Given the description of an element on the screen output the (x, y) to click on. 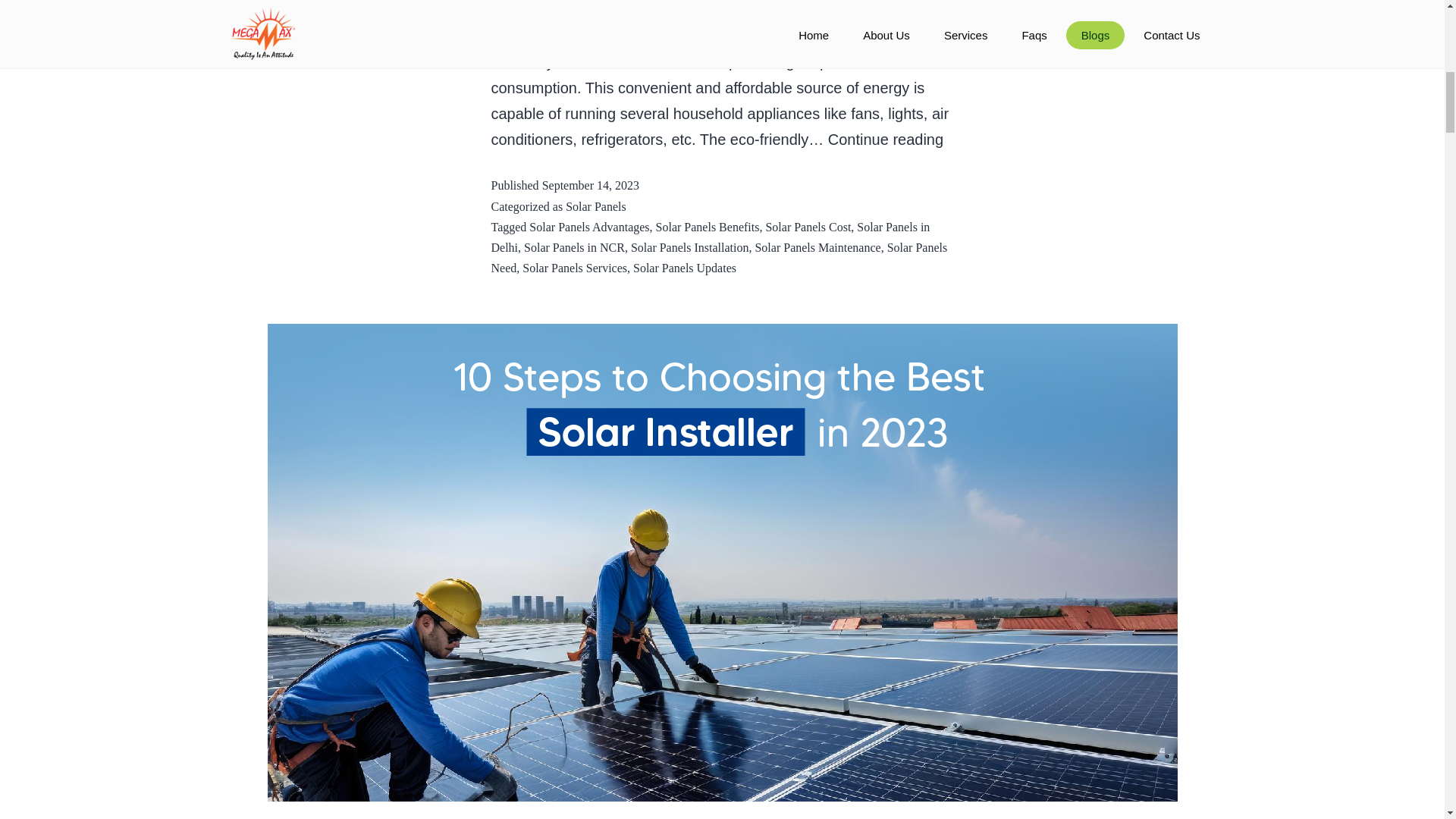
Solar Panels in NCR (574, 246)
Solar Panels in Delhi (711, 236)
Solar Panels Maintenance (817, 246)
Solar Panels Cost (885, 139)
Solar Panels Benefits (807, 226)
Solar Panels Installation (708, 226)
Solar Panels (689, 246)
Solar Panels Need (596, 205)
Solar Panels Advantages (719, 257)
